Given the description of an element on the screen output the (x, y) to click on. 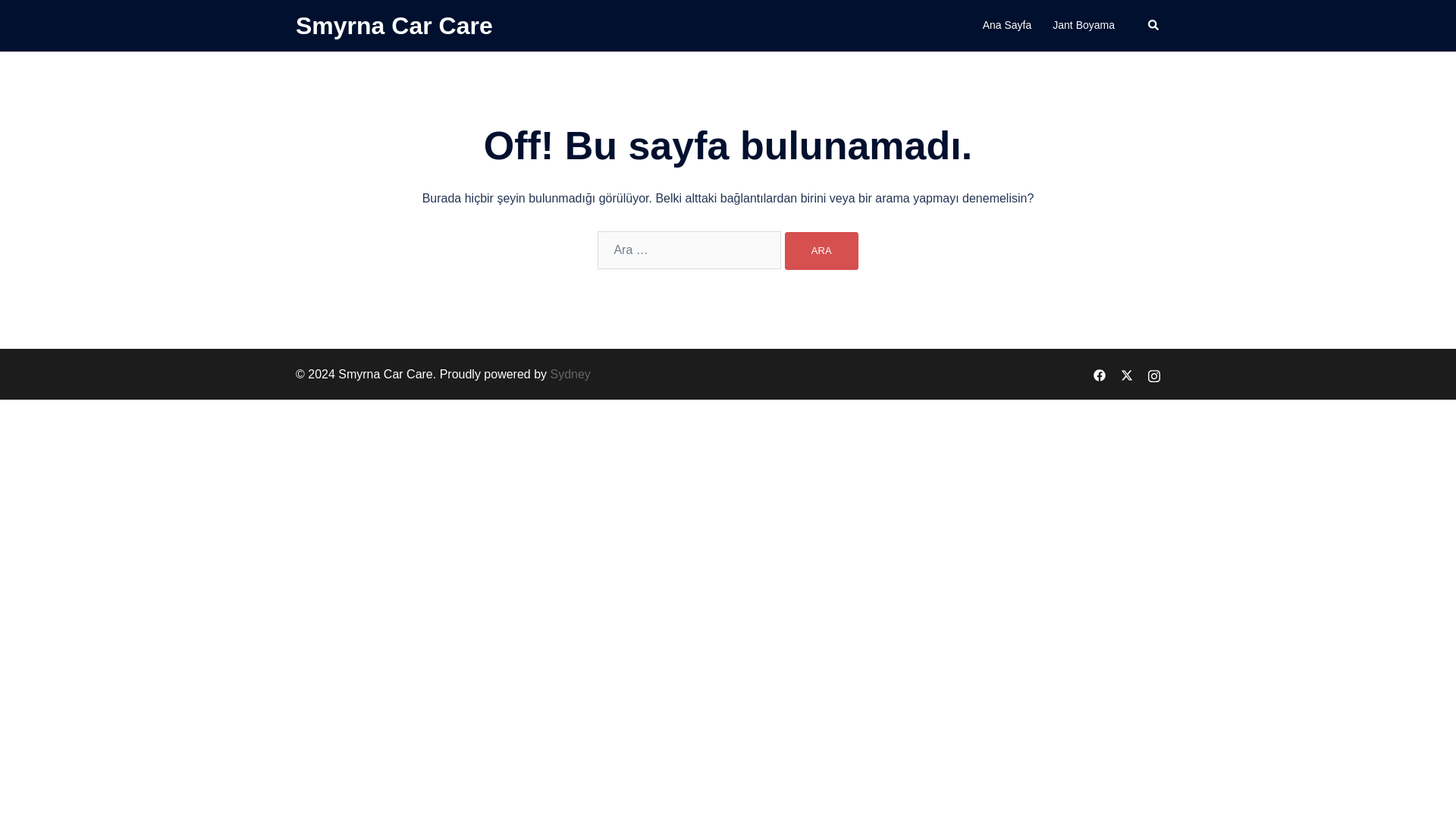
Ara (821, 250)
Jant Boyama (1083, 25)
Ara (821, 250)
Sydney (570, 373)
Ana Sayfa (1007, 25)
Search (1154, 25)
Smyrna Car Care (394, 25)
Ara (821, 250)
